Given the description of an element on the screen output the (x, y) to click on. 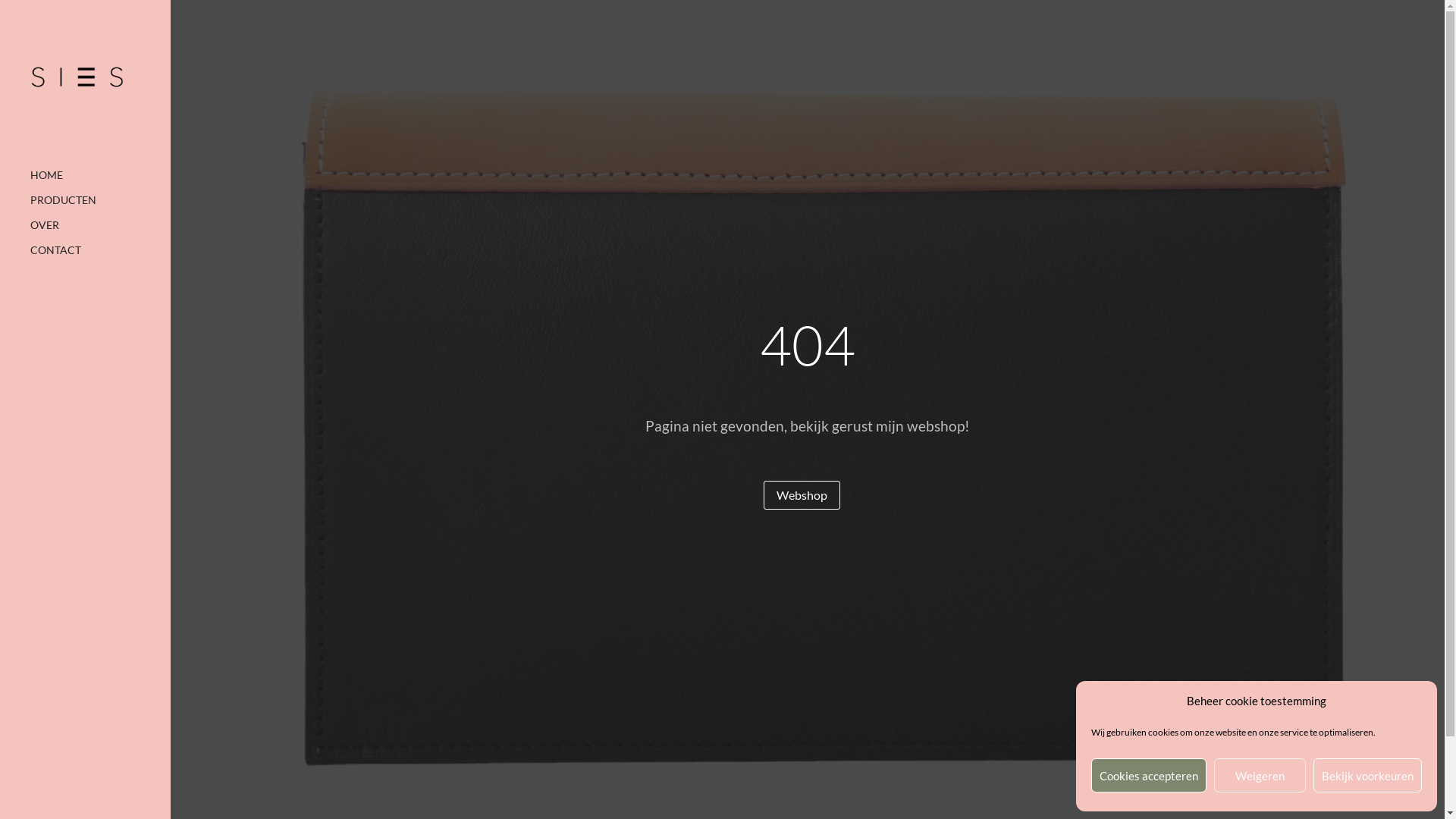
Cookies accepteren Element type: text (1148, 775)
CONTACT Element type: text (100, 256)
Bekijk voorkeuren Element type: text (1367, 775)
Weigeren Element type: text (1259, 775)
HOME Element type: text (100, 181)
OVER Element type: text (100, 231)
PRODUCTEN Element type: text (100, 206)
Webshop Element type: text (801, 495)
